Given the description of an element on the screen output the (x, y) to click on. 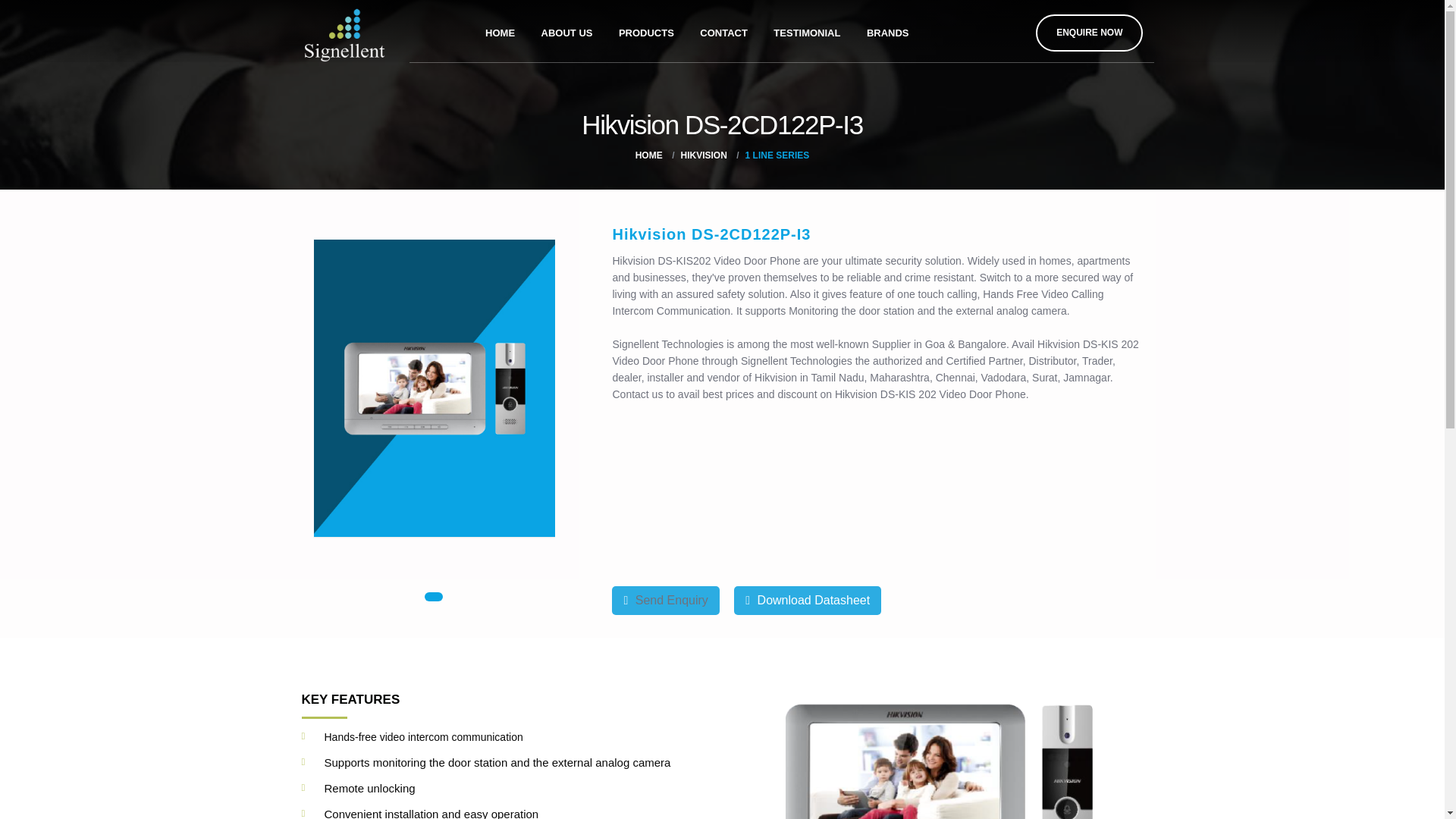
Download Datasheet (807, 600)
HIKVISION (702, 155)
CONTACT (723, 30)
ABOUT US (566, 30)
TESTIMONIAL (806, 30)
HOME (648, 155)
PRODUCTS (646, 30)
BRANDS (888, 30)
ENQUIRE NOW (1088, 32)
Send Enquiry (665, 600)
1 LINE SERIES (777, 155)
